Given the description of an element on the screen output the (x, y) to click on. 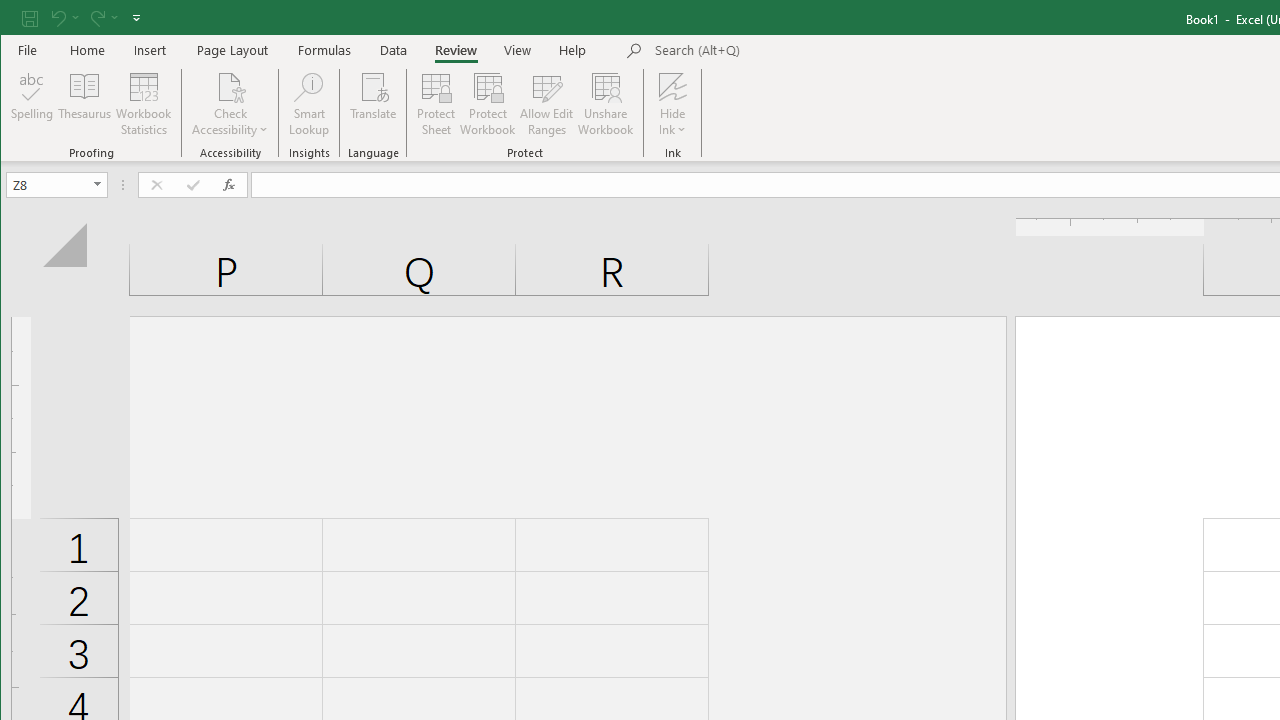
Hide Ink (672, 86)
More Options (672, 123)
Name Box (56, 184)
System (18, 18)
Home (87, 50)
Help (573, 50)
Unshare Workbook (606, 104)
Redo (102, 17)
Name Box (48, 184)
Translate (373, 104)
Allow Edit Ranges (547, 104)
Page Layout (231, 50)
Redo (96, 17)
Smart Lookup (308, 104)
Customize Quick Access Toolbar (136, 17)
